Given the description of an element on the screen output the (x, y) to click on. 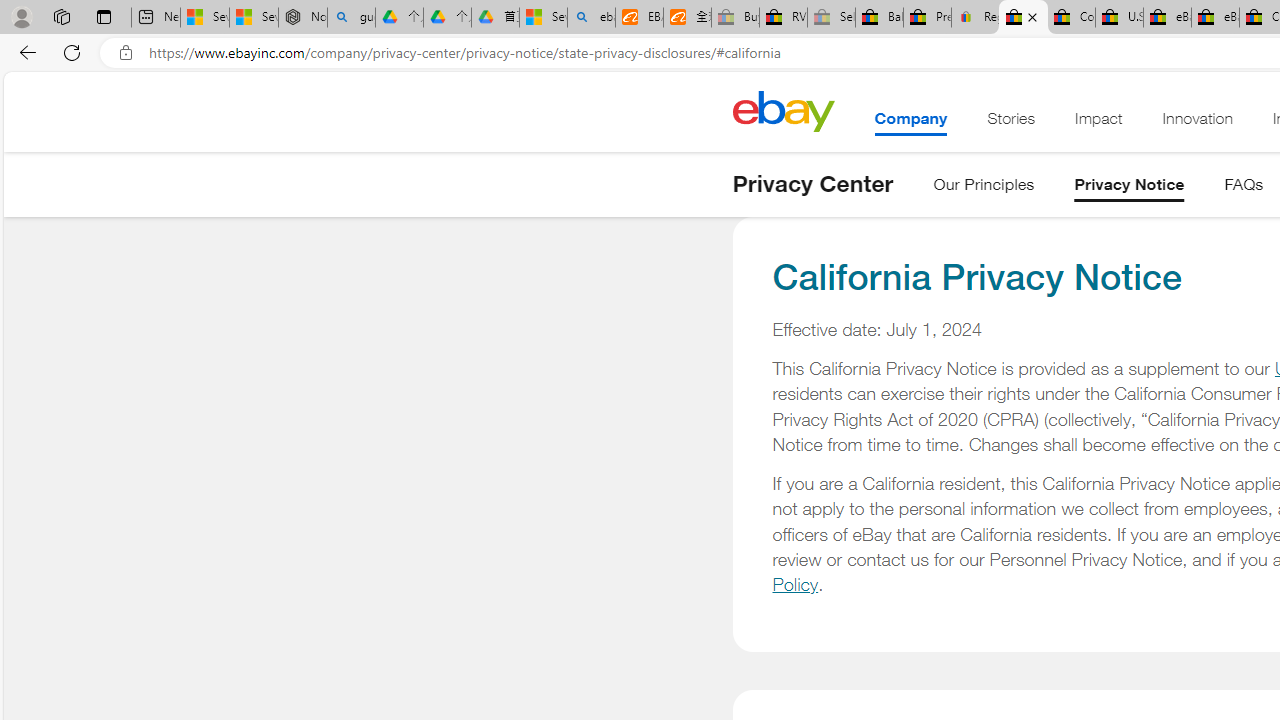
Our Principles (984, 188)
Privacy Center (812, 183)
Privacy Notice (1129, 188)
eBay Inc. Reports Third Quarter 2023 Results (1215, 17)
